Given the description of an element on the screen output the (x, y) to click on. 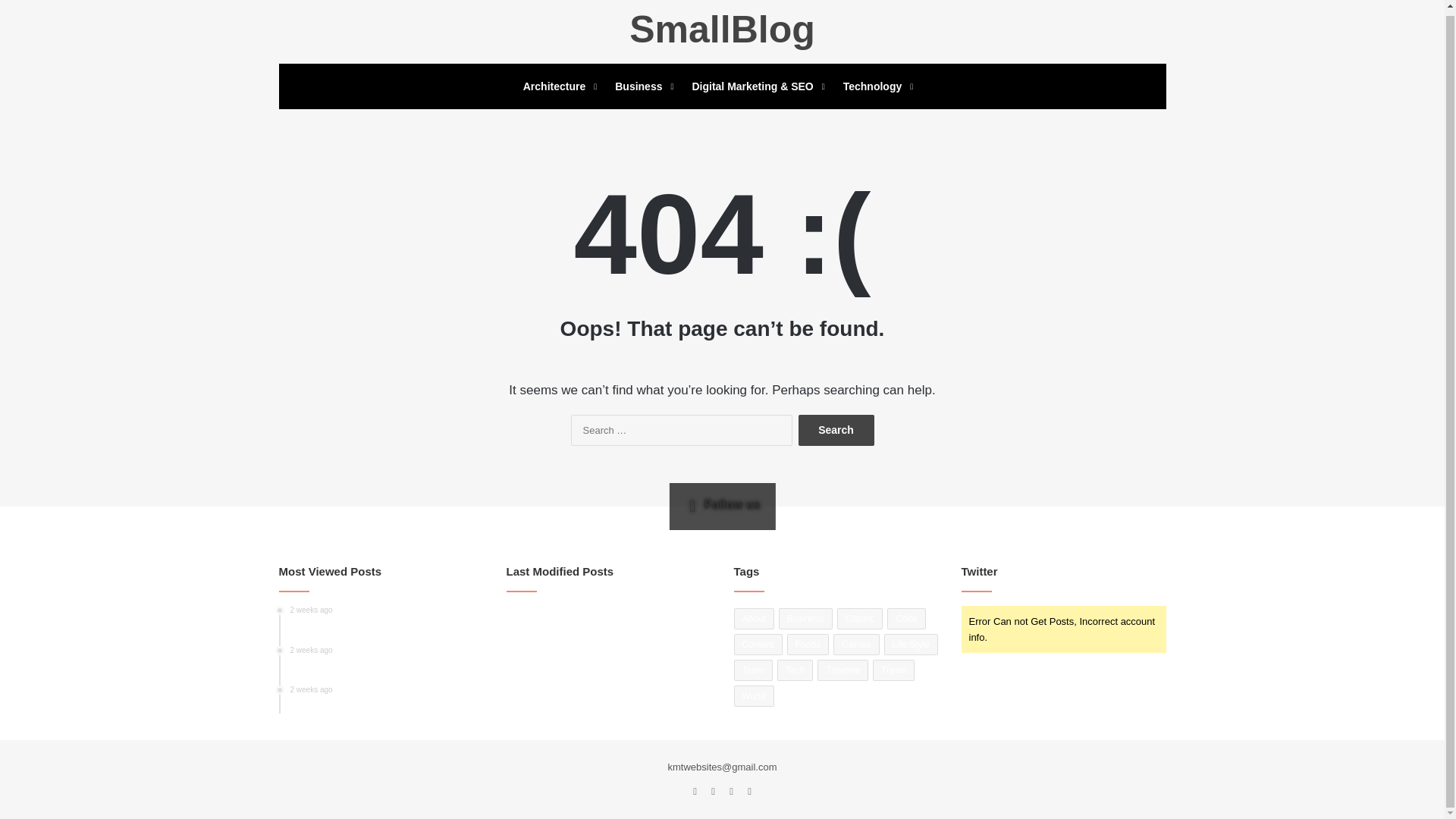
Content (758, 644)
Foods (807, 644)
Technology (876, 85)
Games (855, 644)
Color (906, 618)
Timeline (386, 699)
Business (841, 670)
SmallBlog (805, 618)
About (720, 29)
